Given the description of an element on the screen output the (x, y) to click on. 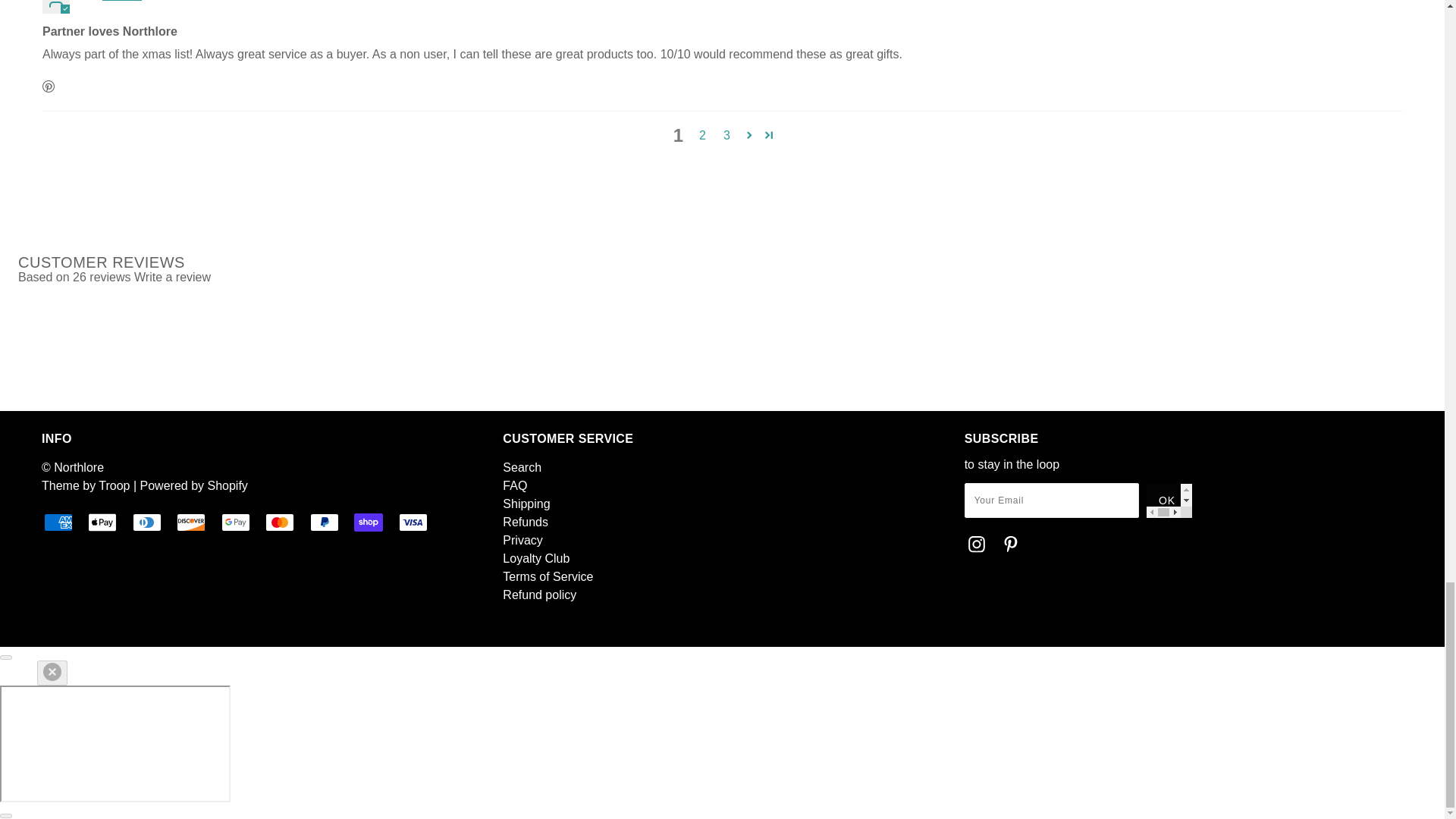
PayPal (324, 522)
Diners Club (146, 522)
Discover (190, 522)
Pinterest (48, 86)
Privacy (521, 540)
Google Pay (235, 522)
Refund policy (539, 594)
Search (521, 467)
Apple Pay (101, 522)
Mastercard (279, 522)
Shipping (526, 503)
Loyalty Club (535, 558)
FAQ (514, 485)
Ok (1169, 500)
American Express (57, 522)
